Given the description of an element on the screen output the (x, y) to click on. 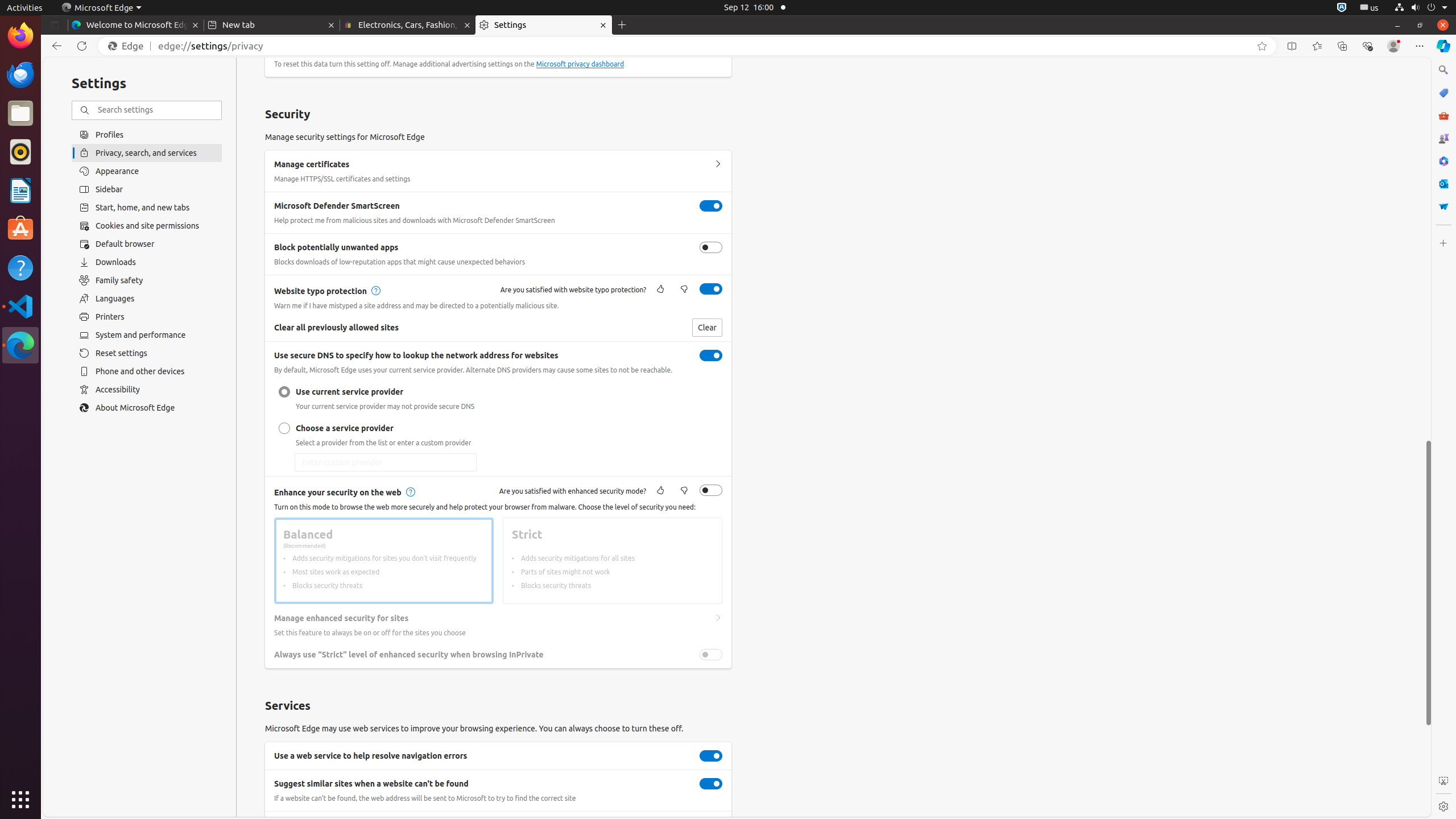
Website typo protection, learn more Element type: push-button (374, 291)
Collections Element type: push-button (1341, 45)
Strict Adds security mitigations for all sites Parts of sites might not work Blocks security threats Element type: radio-button (612, 560)
Use current service provider Your current service provider may not provide secure DNS Element type: radio-button (284, 391)
New Tab Element type: push-button (622, 25)
